Given the description of an element on the screen output the (x, y) to click on. 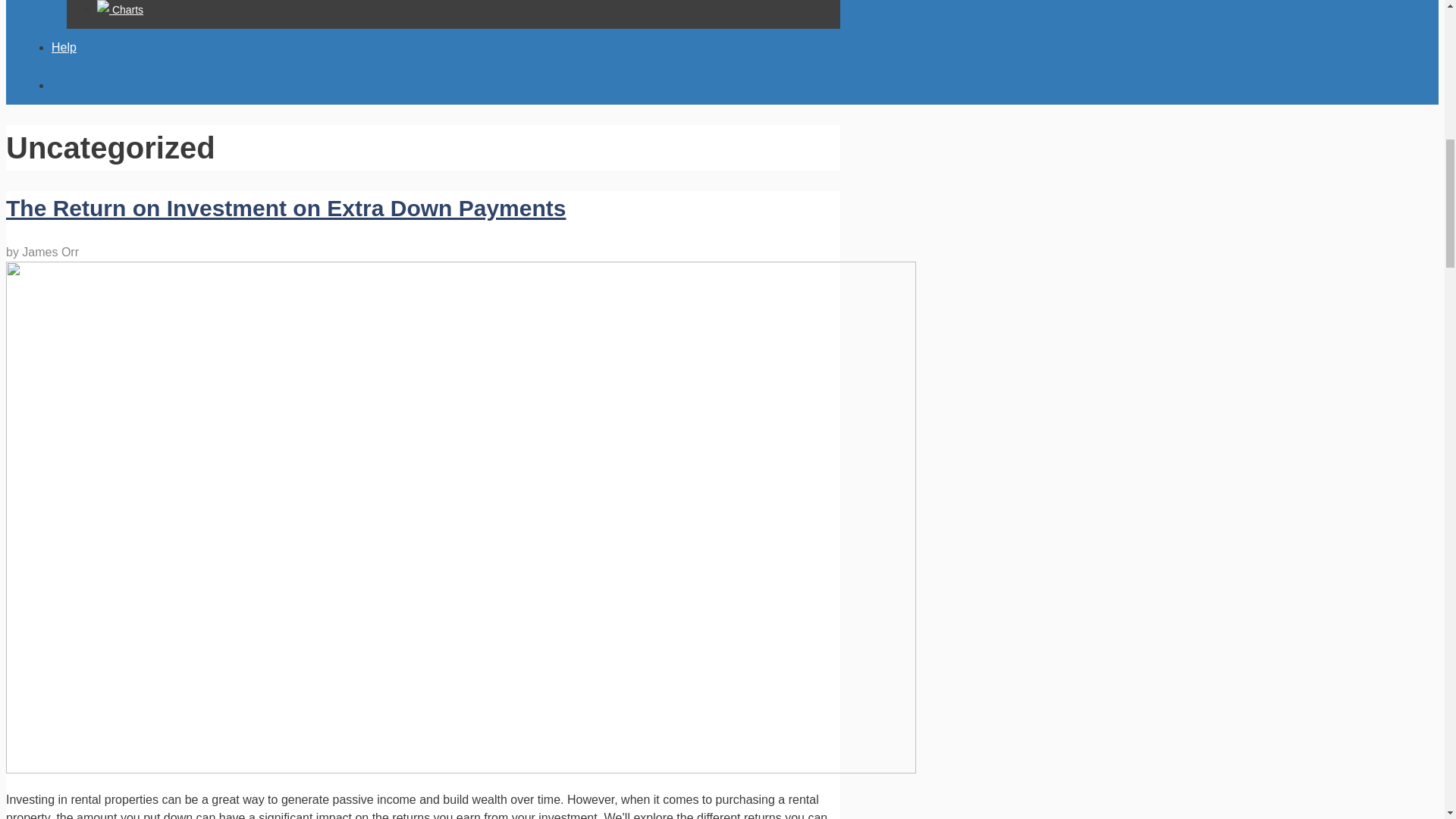
Charts (119, 9)
Help (63, 47)
The Return on Investment on Extra Down Payments (285, 207)
